Given the description of an element on the screen output the (x, y) to click on. 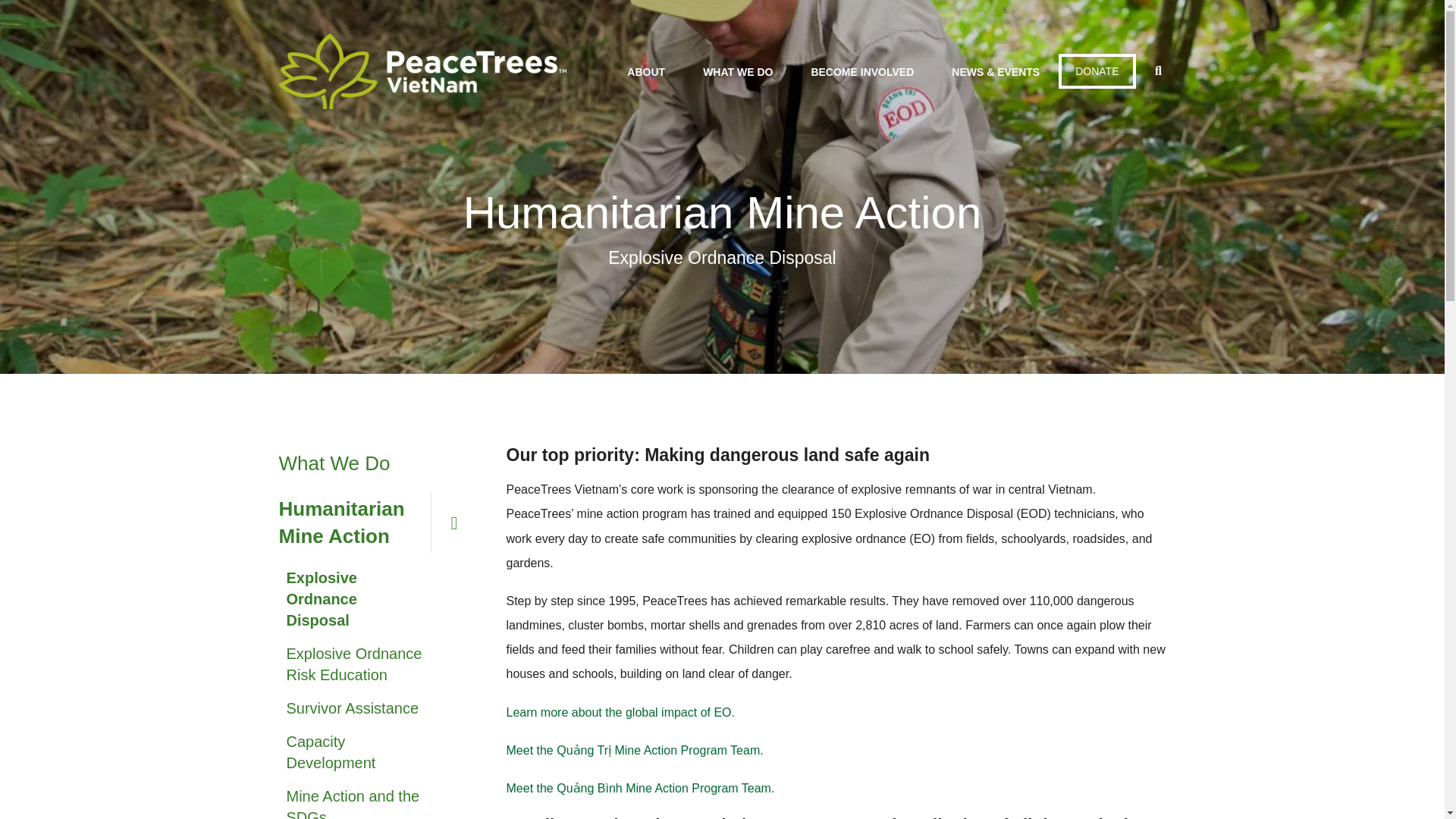
logo (422, 70)
